Given the description of an element on the screen output the (x, y) to click on. 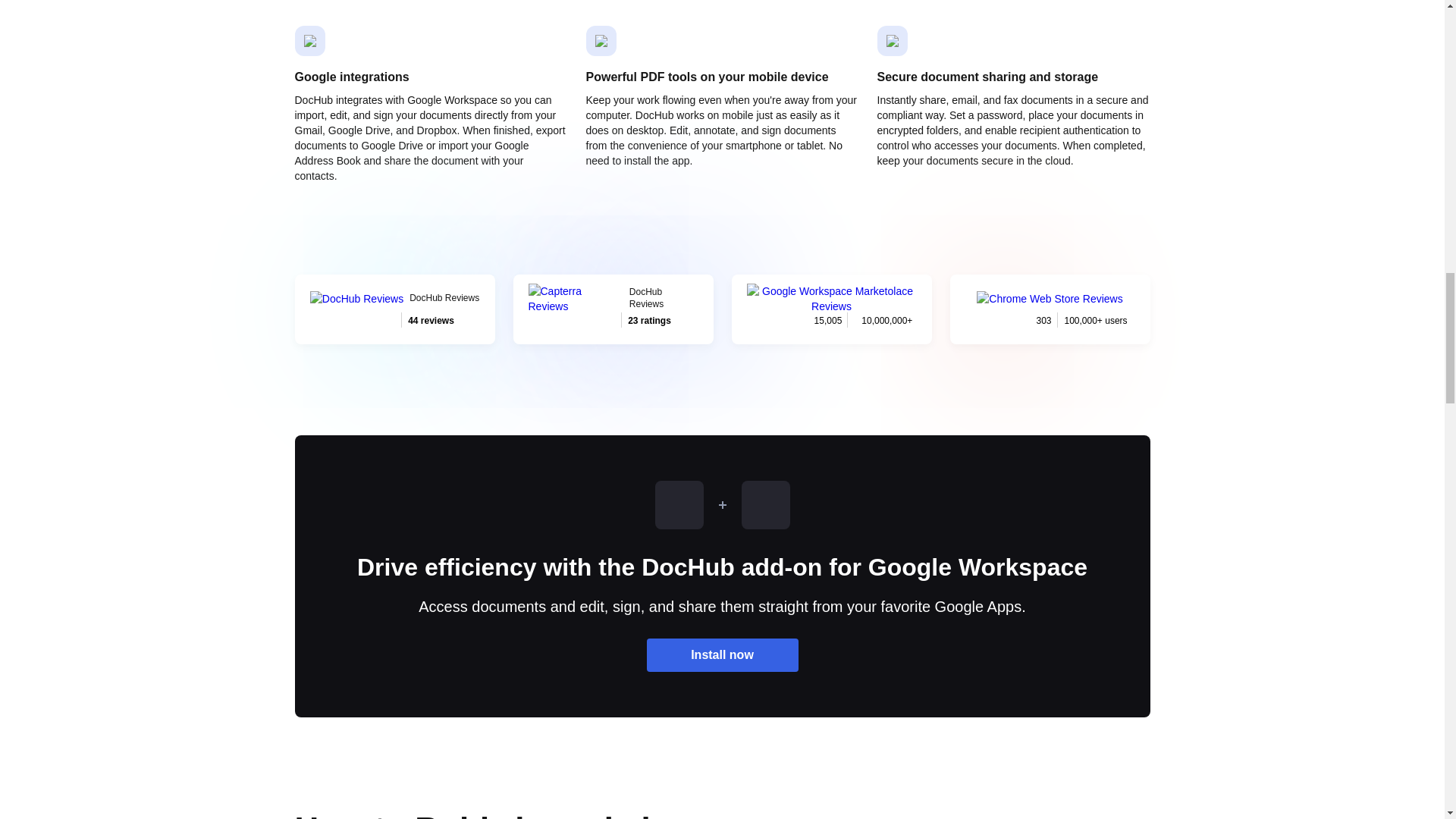
Install now (612, 308)
